Given the description of an element on the screen output the (x, y) to click on. 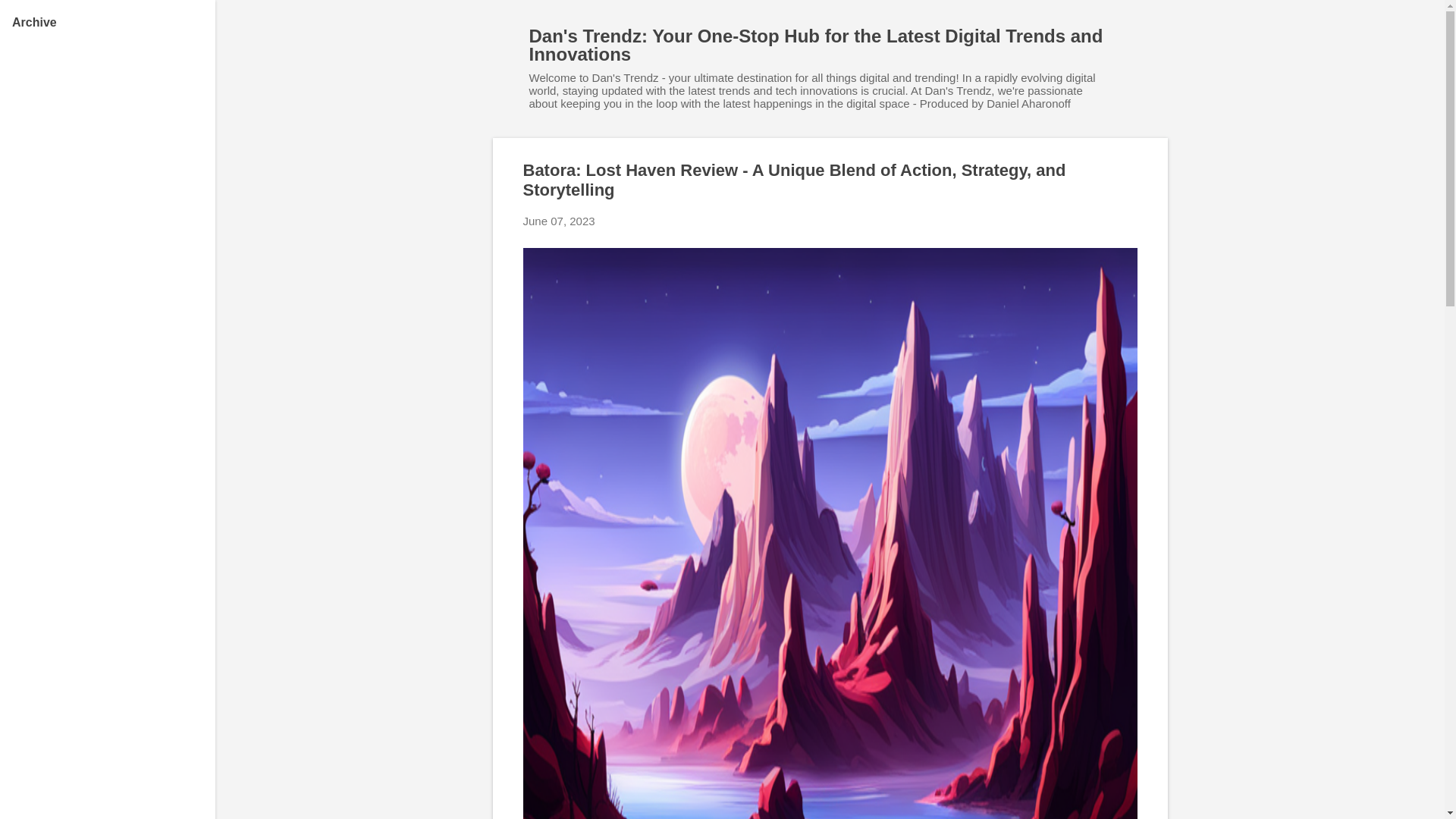
permanent link (558, 220)
June 07, 2023 (558, 220)
